Given the description of an element on the screen output the (x, y) to click on. 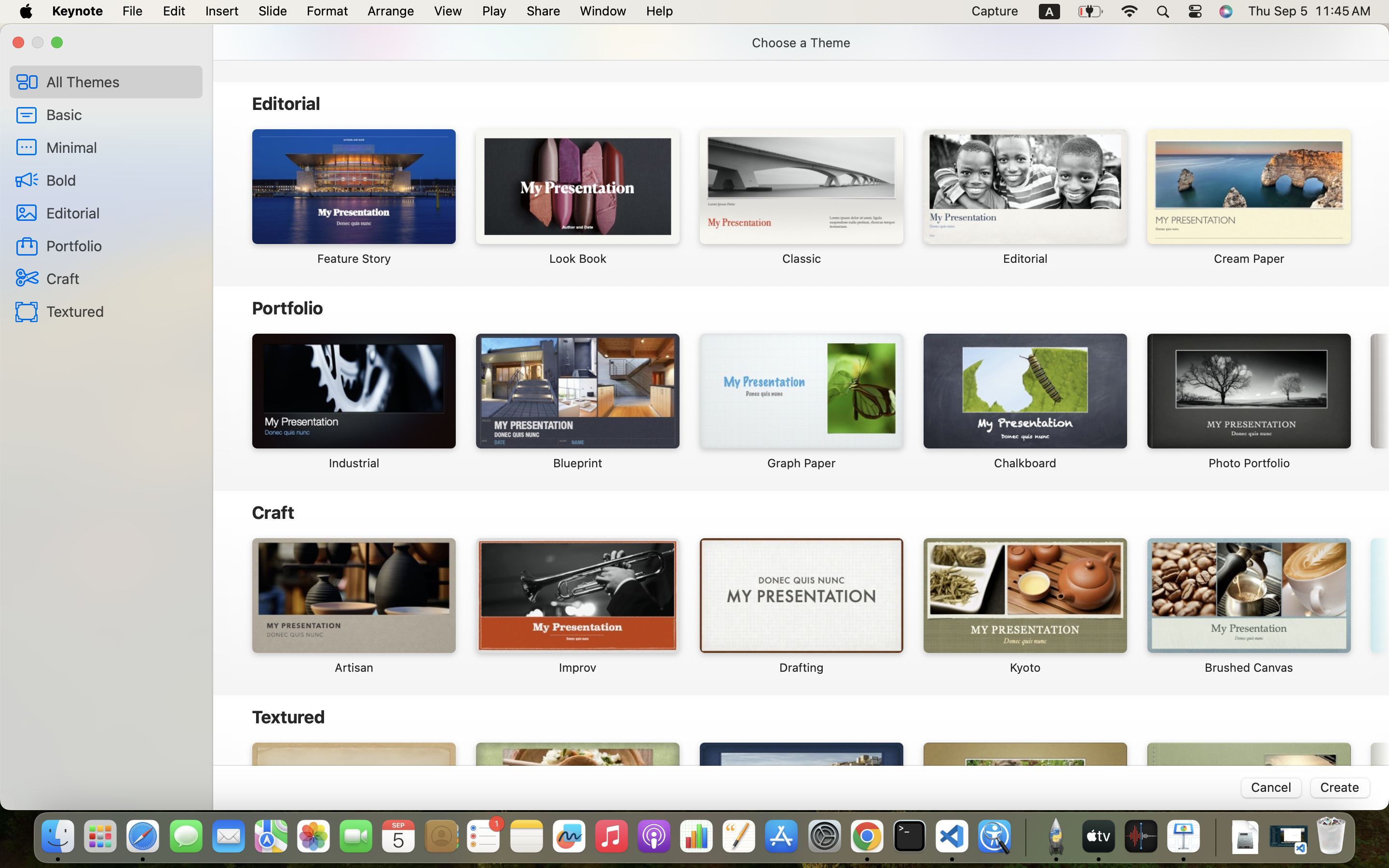
Textured Element type: AXStaticText (120, 310)
Craft Element type: AXStaticText (120, 278)
Portfolio Element type: AXStaticText (120, 245)
Bold Element type: AXStaticText (120, 179)
Editorial Element type: AXStaticText (120, 212)
